Given the description of an element on the screen output the (x, y) to click on. 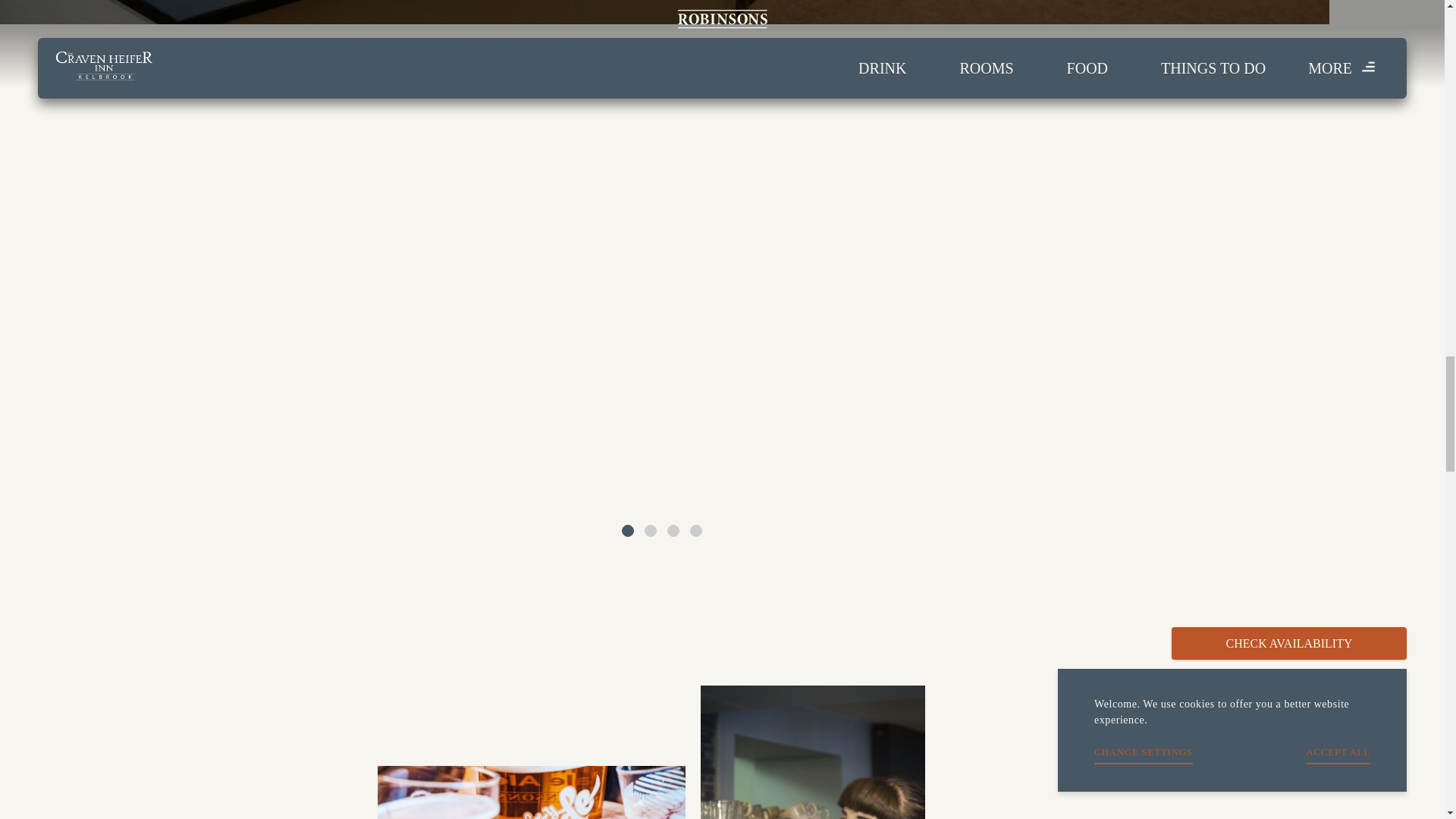
1 (627, 530)
4 (695, 530)
3 (672, 530)
2 (650, 530)
